Given the description of an element on the screen output the (x, y) to click on. 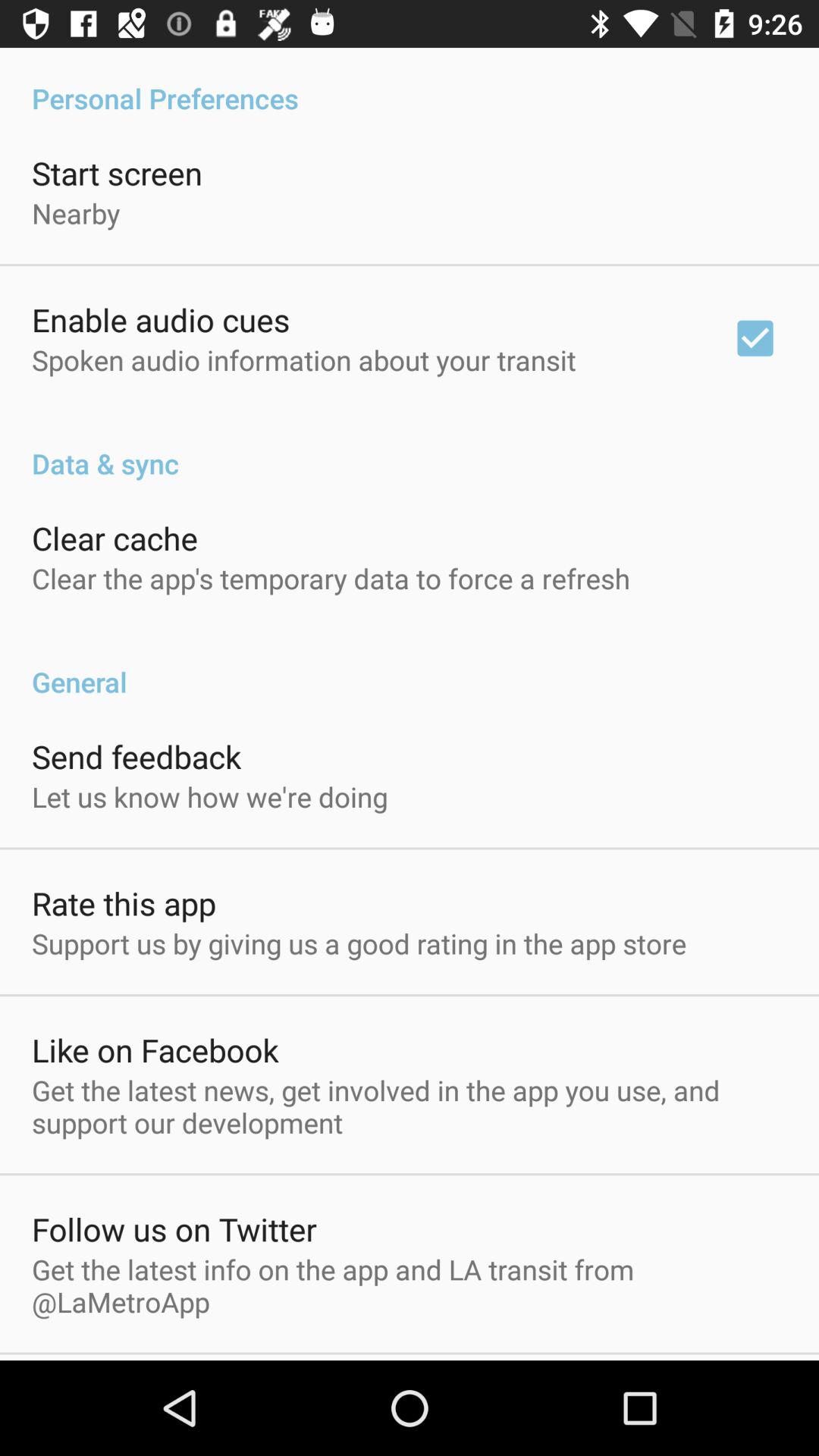
choose clear cache (114, 537)
